Given the description of an element on the screen output the (x, y) to click on. 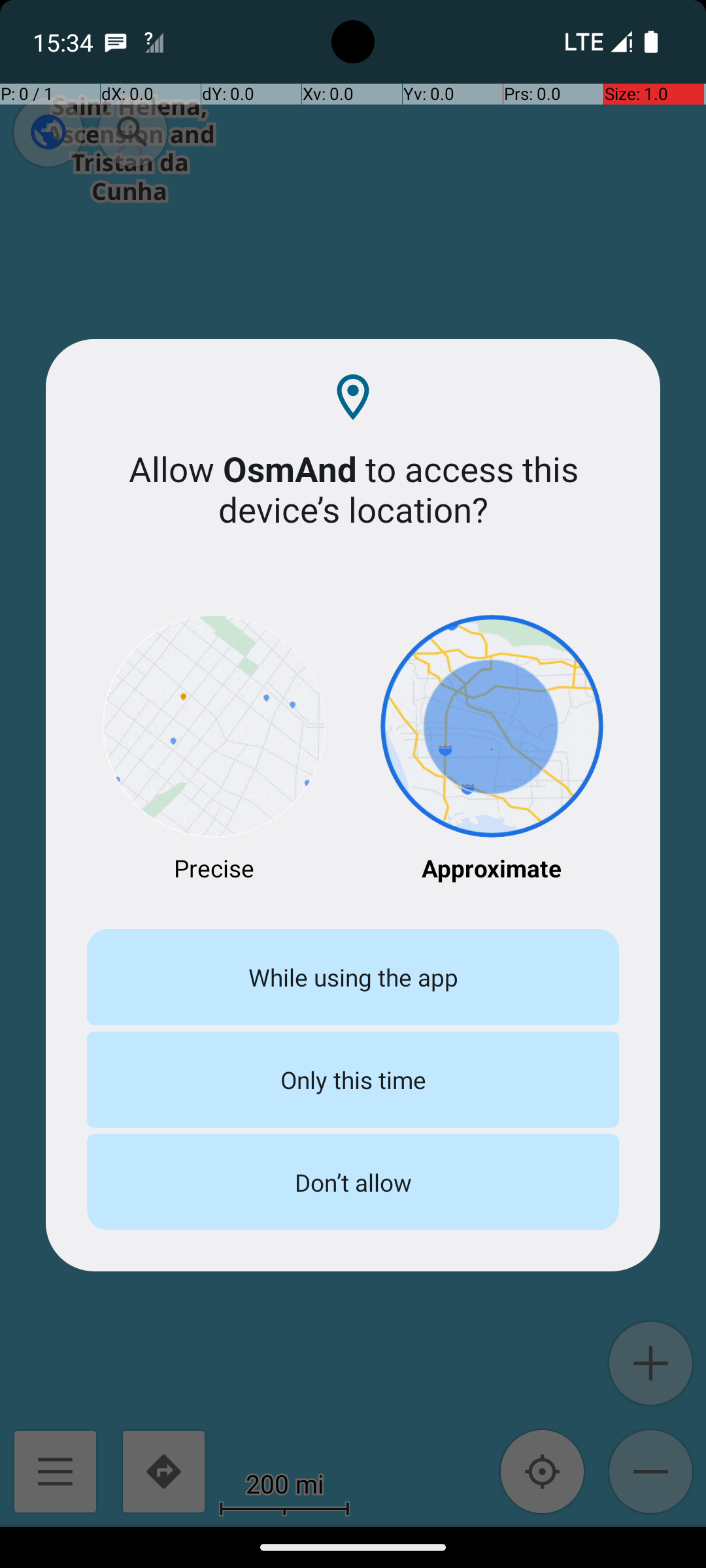
Allow OsmAnd to access this device’s location? Element type: android.widget.TextView (352, 488)
While using the app Element type: android.widget.Button (352, 977)
Only this time Element type: android.widget.Button (352, 1079)
Precise Element type: android.widget.RadioButton (213, 749)
Approximate Element type: android.widget.RadioButton (491, 749)
